Given the description of an element on the screen output the (x, y) to click on. 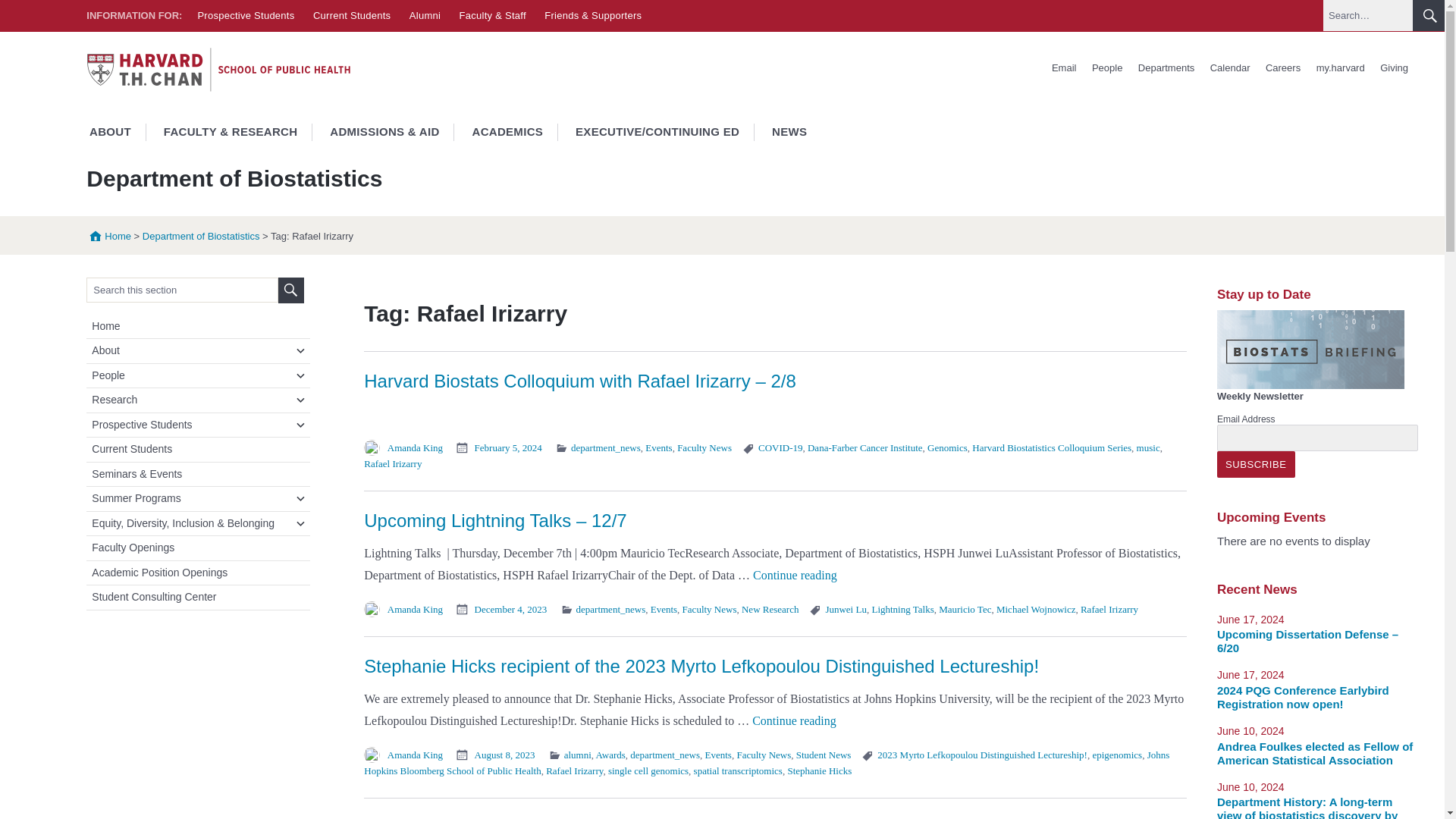
Email (1064, 67)
Current Students (351, 15)
ACADEMICS (507, 131)
Search for: (181, 289)
Giving (1393, 67)
NEWS (788, 131)
ABOUT (109, 131)
Manage Student Information (1340, 67)
Go to Harvard T.H. Chan School of Public Health. (108, 235)
Harvard T.H. Chan School of Public Health (218, 69)
Home (108, 235)
Calendar (1229, 67)
About (200, 350)
Search (291, 290)
Alumni (425, 15)
